Given the description of an element on the screen output the (x, y) to click on. 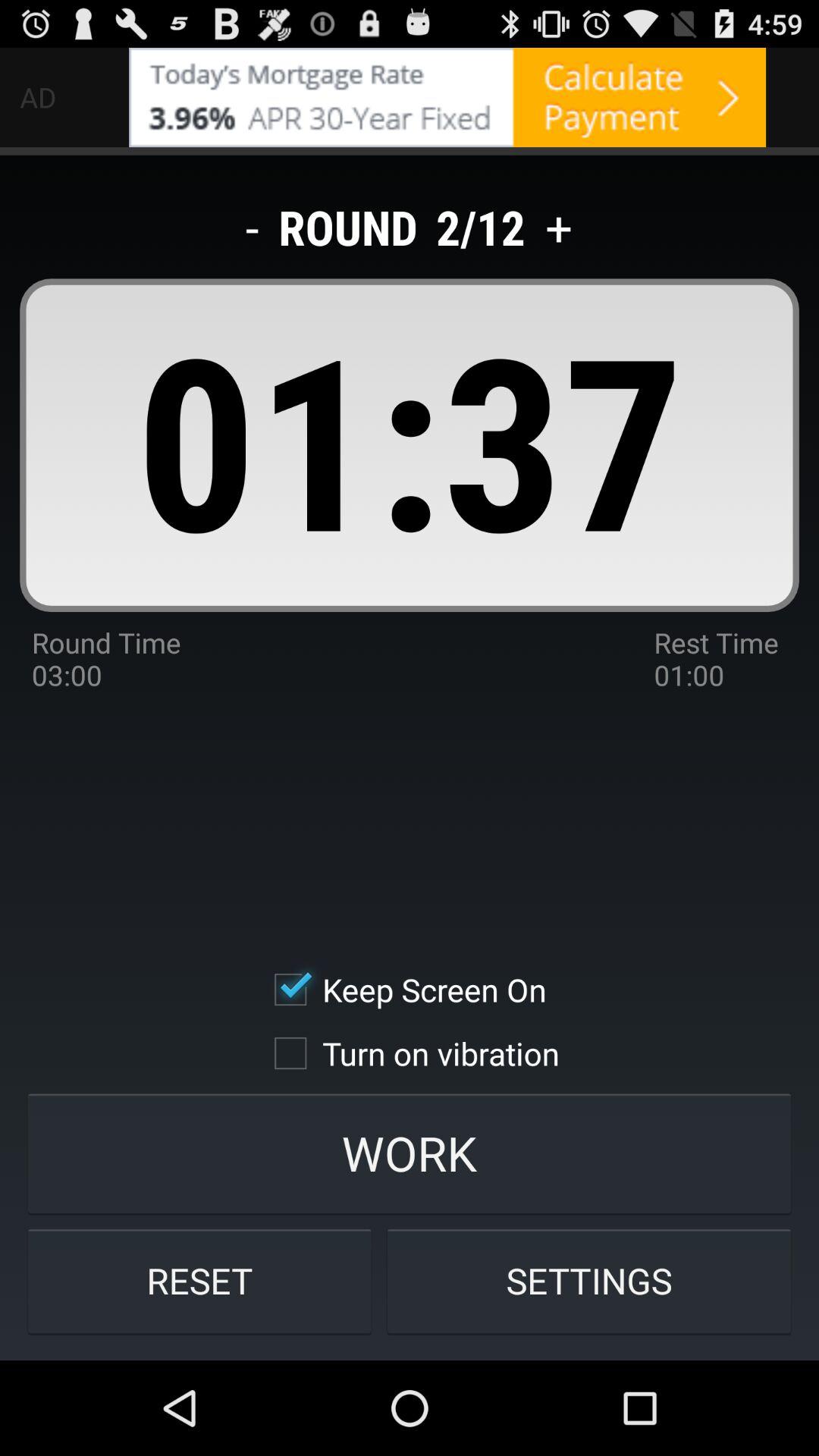
open advert (447, 97)
